Given the description of an element on the screen output the (x, y) to click on. 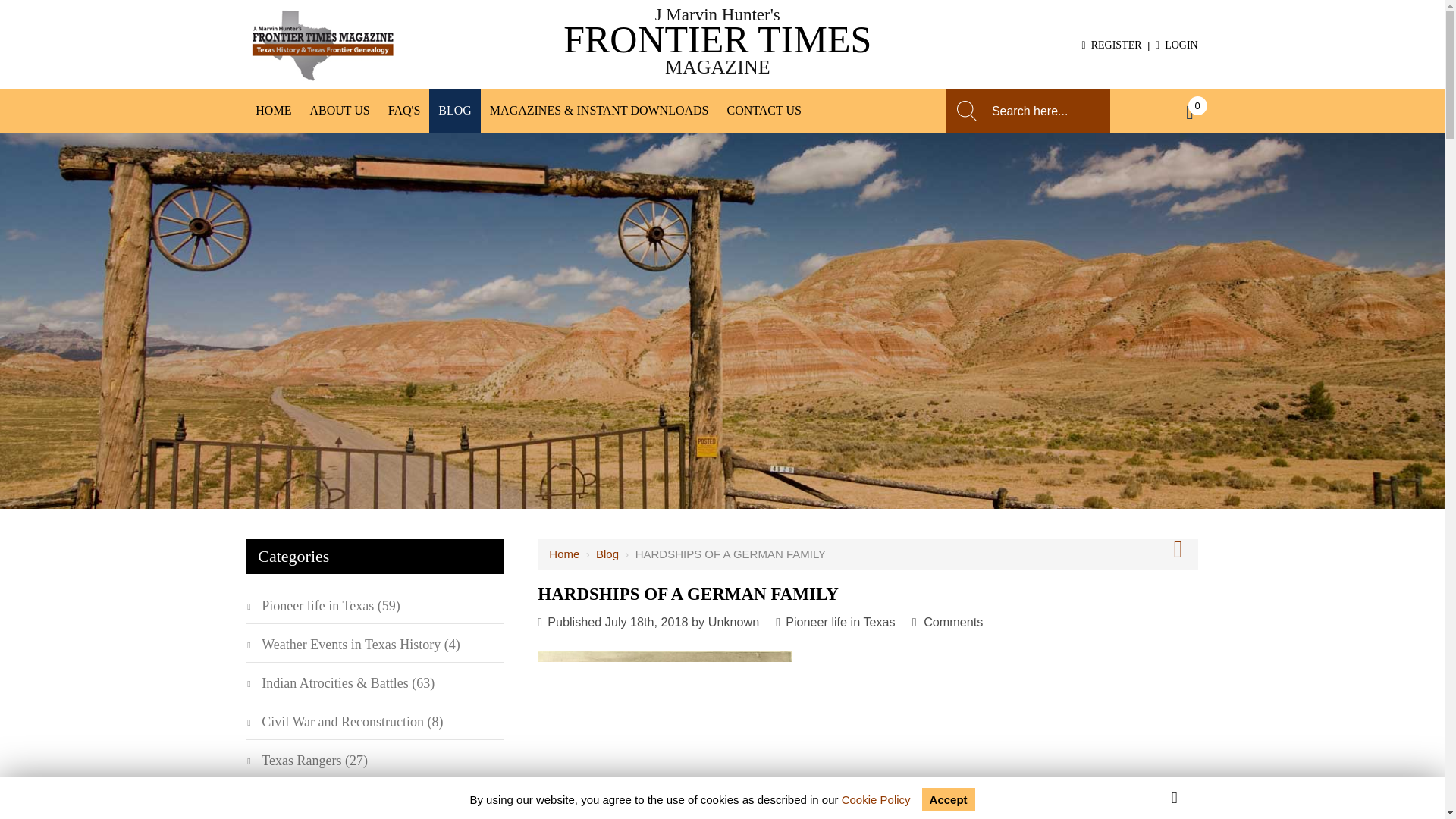
Blog (606, 553)
  REGISTER (1111, 44)
Comments (952, 621)
BLOG (454, 110)
Pioneer life in Texas (840, 621)
FAQ'S (403, 110)
ABOUT US (338, 110)
CONTACT US (763, 110)
Home (563, 553)
 0 (1187, 113)
HOME (272, 110)
  LOGIN (1177, 44)
